Given the description of an element on the screen output the (x, y) to click on. 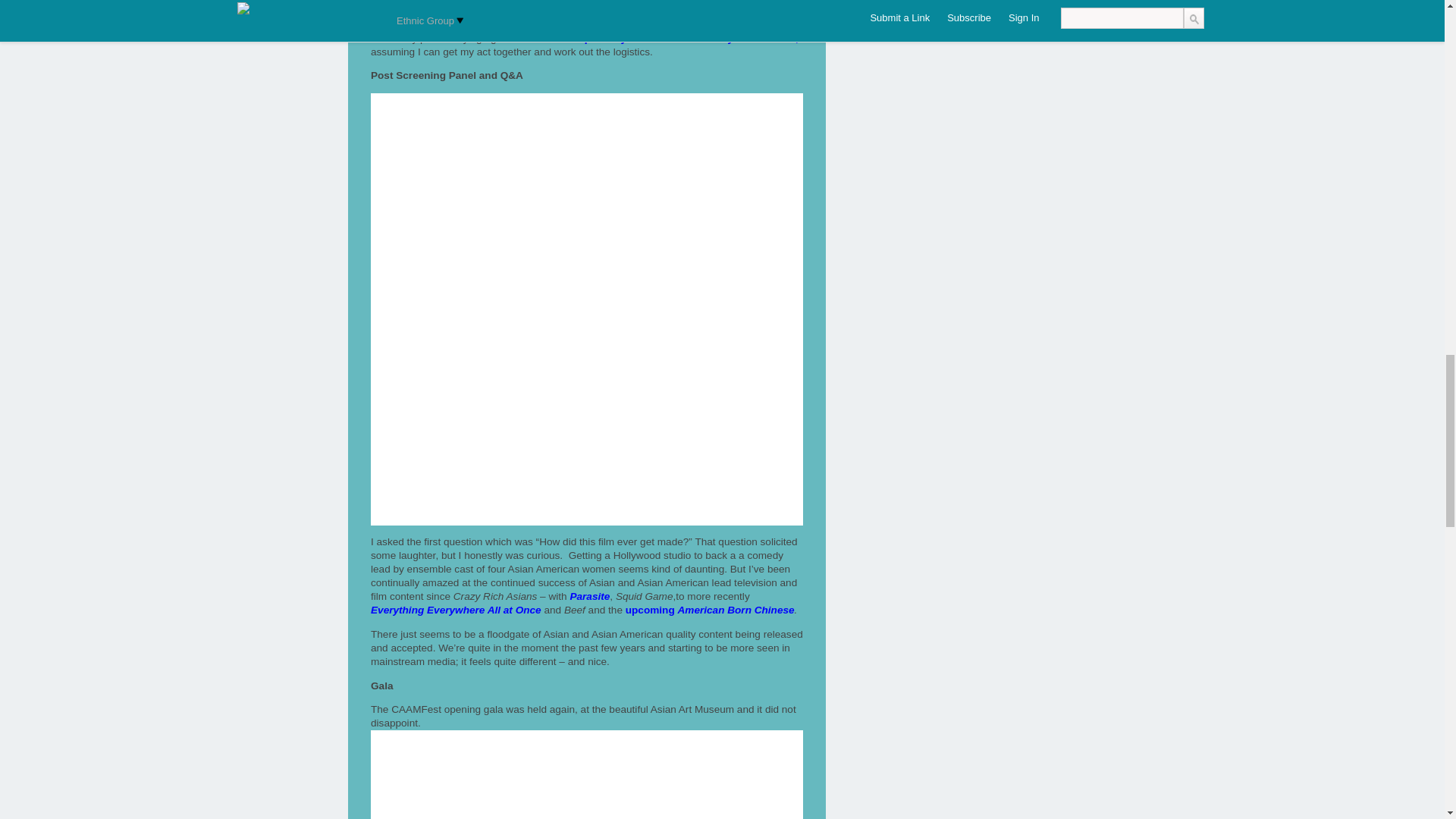
Everything Everywhere All at Once (456, 609)
Parasite (589, 595)
upcoming American Born Chinese (710, 609)
